Given the description of an element on the screen output the (x, y) to click on. 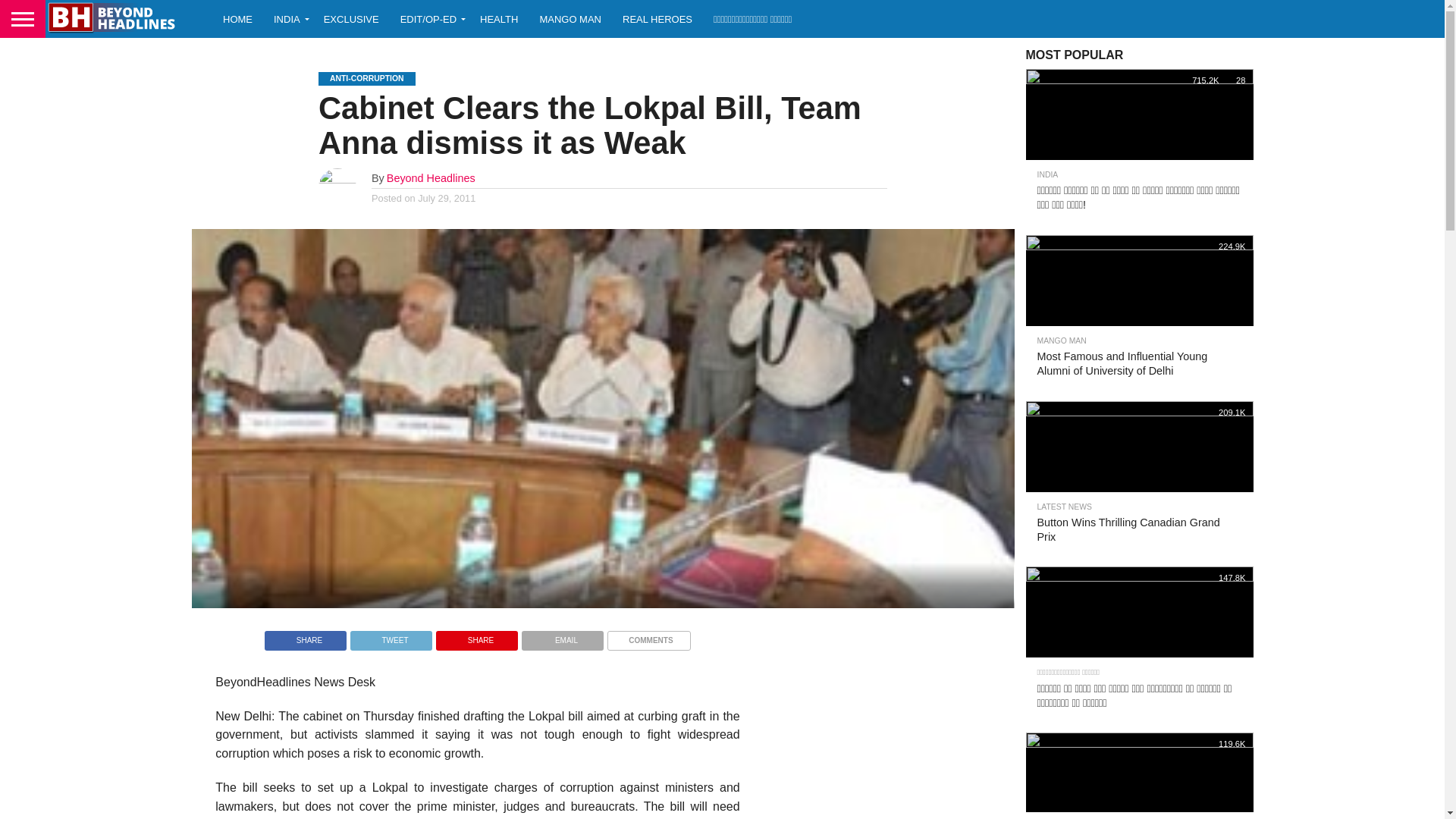
COMMENTS (648, 635)
EMAIL (562, 635)
Share on Facebook (305, 635)
Beyond Headlines (431, 177)
Tweet This Post (390, 635)
SHARE (305, 635)
TWEET (390, 635)
Pin This Post (476, 635)
SHARE (476, 635)
REAL HEROES (657, 18)
EXCLUSIVE (351, 18)
INDIA (288, 18)
MANGO MAN (569, 18)
HEALTH (498, 18)
Posts by Beyond Headlines (431, 177)
